Given the description of an element on the screen output the (x, y) to click on. 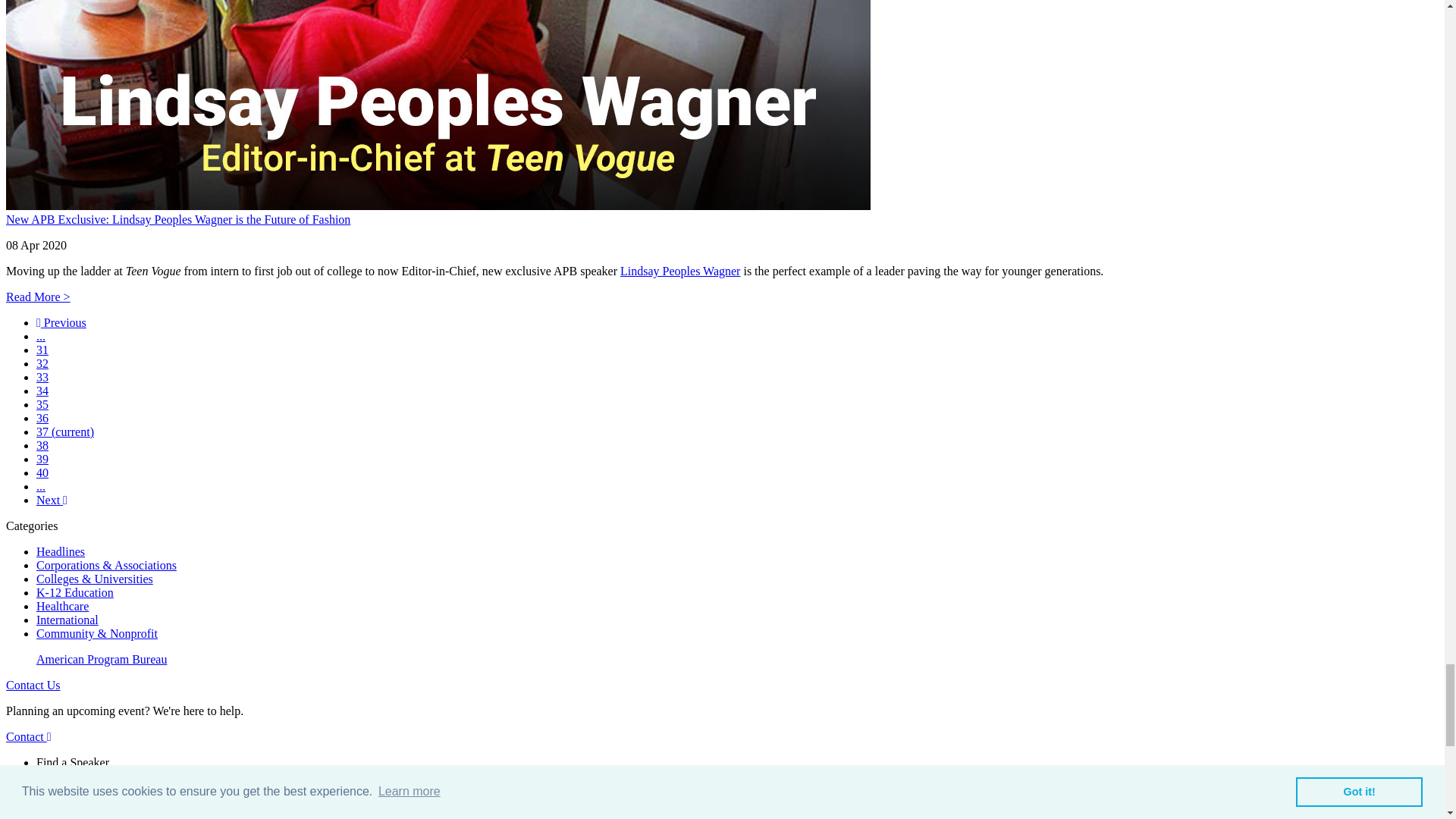
Next (51, 499)
Lindsay Peoples Wagner (679, 270)
Previous (60, 322)
